Given the description of an element on the screen output the (x, y) to click on. 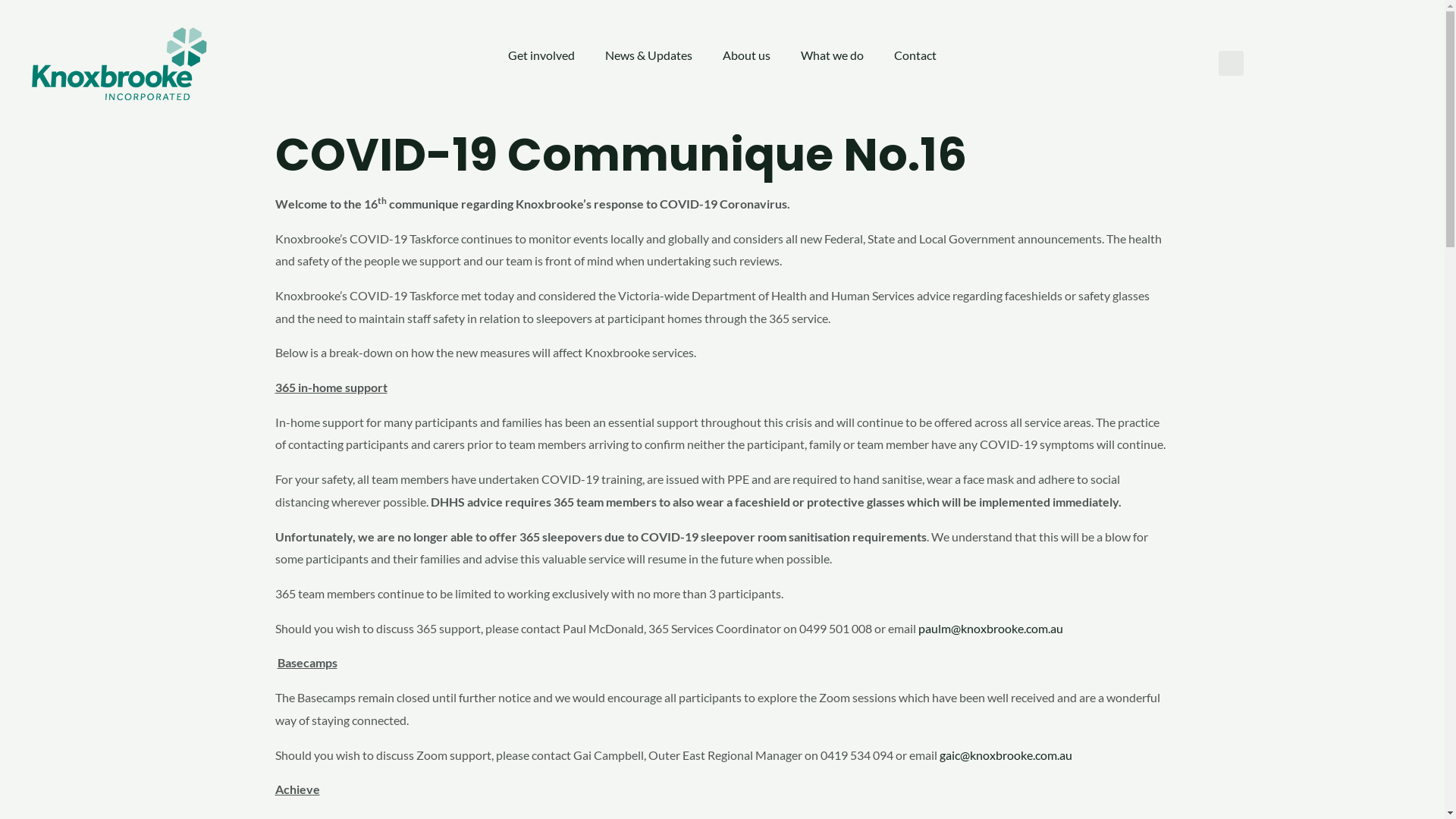
News & Updates Element type: text (648, 54)
About us Element type: text (746, 54)
Get involved Element type: text (540, 54)
What we do Element type: text (831, 54)
gaic@knoxbrooke.com.au Element type: text (1004, 754)
paulm@knoxbrooke.com.au Element type: text (989, 628)
Contact Element type: text (914, 54)
